Given the description of an element on the screen output the (x, y) to click on. 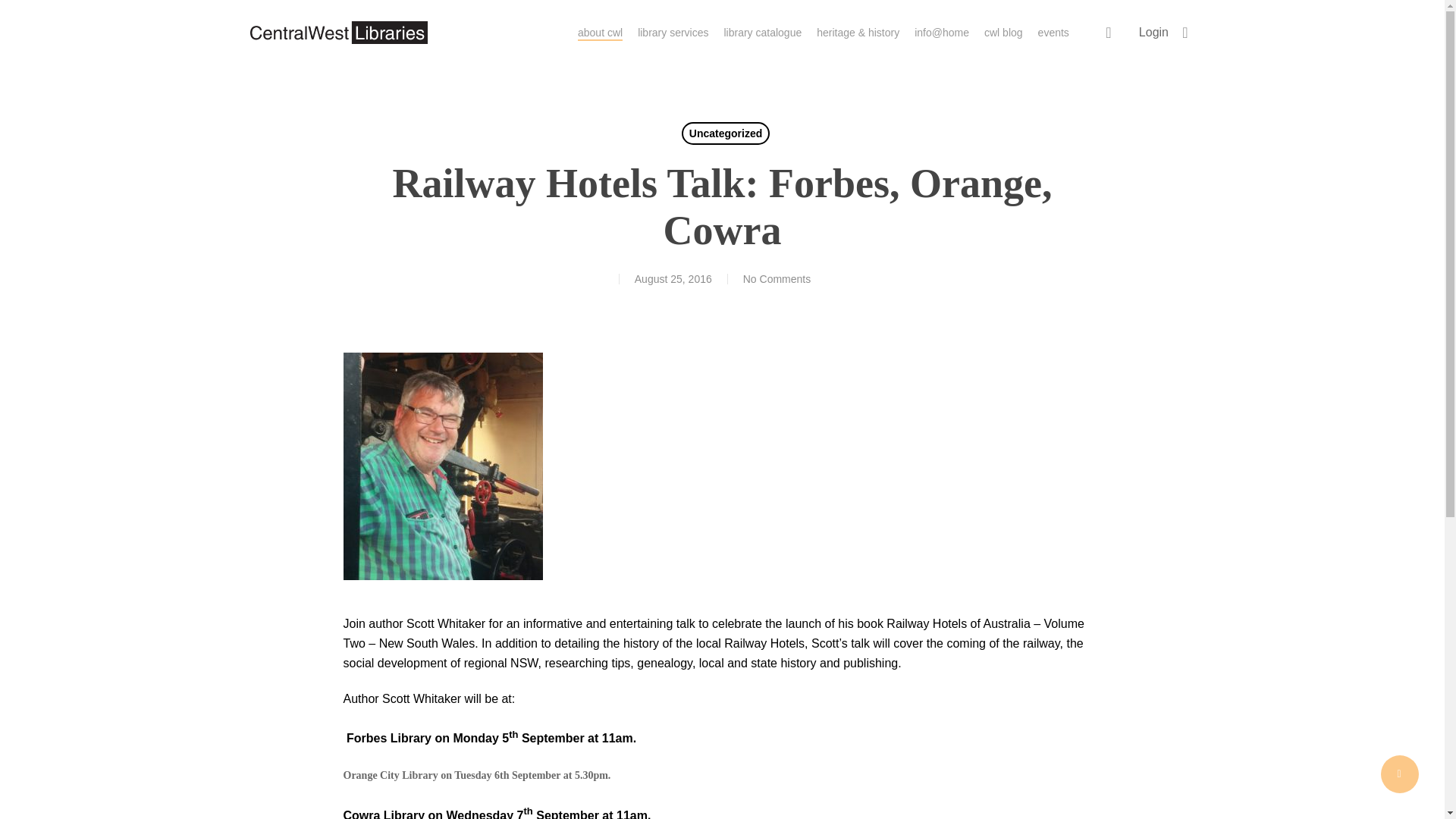
about cwl (600, 32)
library services (672, 32)
 about cwl (600, 32)
